Given the description of an element on the screen output the (x, y) to click on. 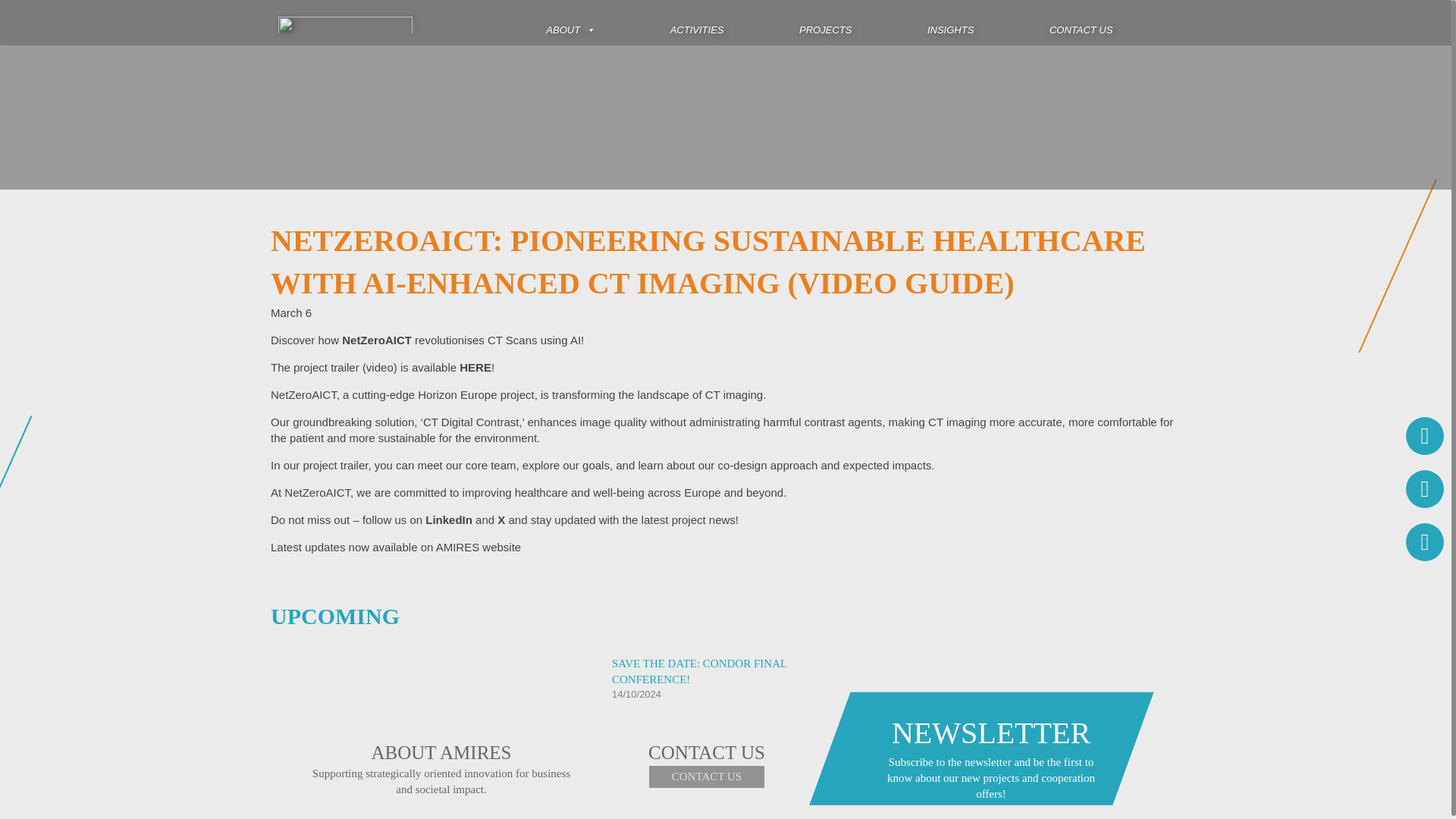
HERE (476, 367)
AMIRES website (478, 546)
INSIGHTS (950, 22)
PROJECTS (825, 22)
ABOUT (570, 22)
CONTACT US (706, 776)
LinkedIn (448, 519)
CONTACT US (1081, 22)
ACTIVITIES (697, 22)
